Given the description of an element on the screen output the (x, y) to click on. 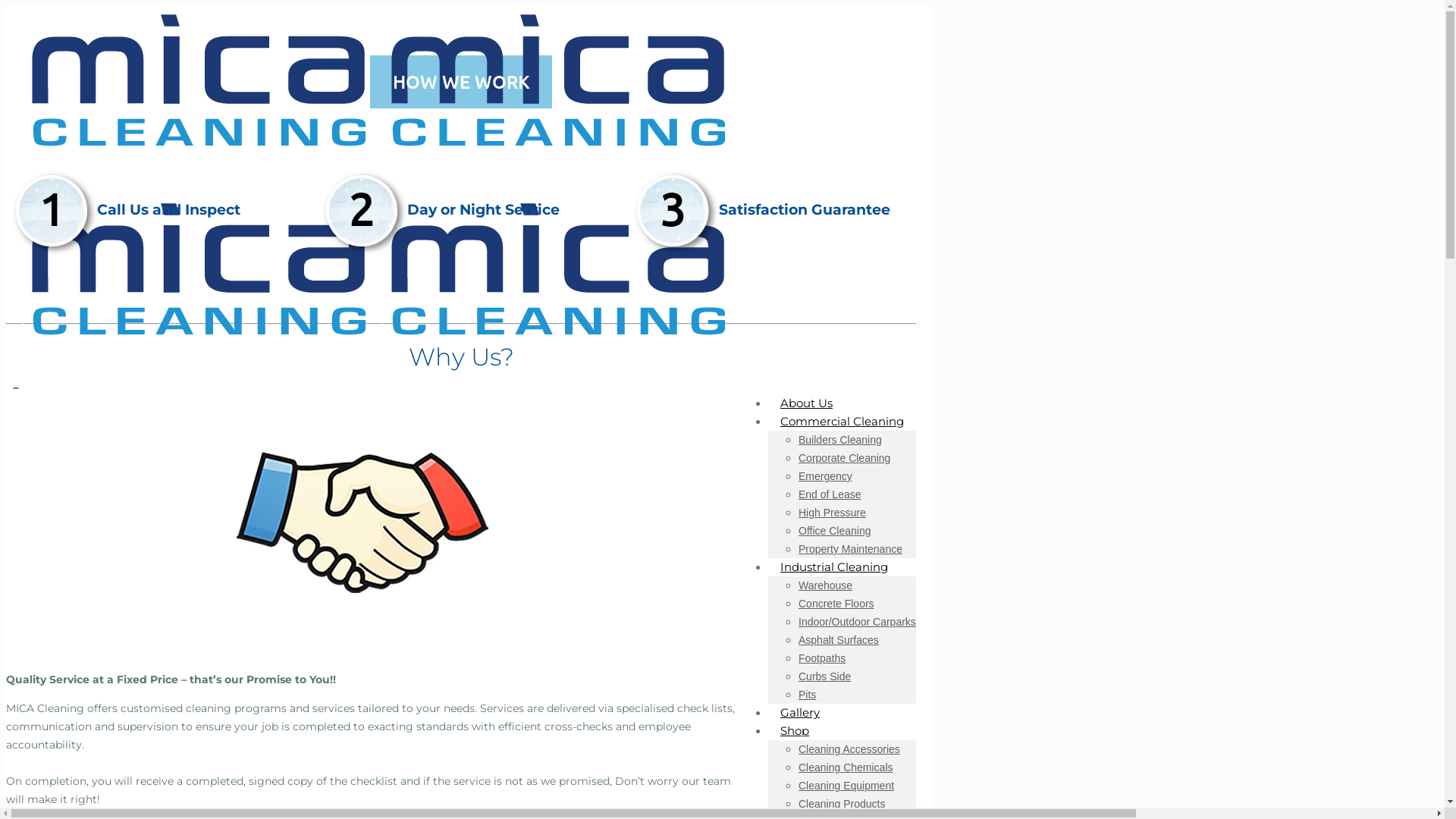
Property Maintenance Element type: text (850, 548)
Pits Element type: text (806, 694)
Cleaning Products Element type: text (841, 803)
Office Cleaning Element type: text (834, 530)
Corporate Cleaning Element type: text (844, 457)
Curbs Side Element type: text (824, 676)
Mica Cleaning Element type: hover (365, 256)
Commercial Cleaning Element type: text (842, 420)
Emergency Element type: text (825, 476)
High Pressure Element type: text (832, 512)
Gallery Element type: text (799, 712)
Indoor/Outdoor Carparks Element type: text (857, 621)
Asphalt Surfaces Element type: text (838, 639)
Cleaning Equipment Element type: text (846, 785)
0
$0.00 Element type: text (461, 414)
Cleaning Chemicals Element type: text (845, 767)
Cleaning Accessories Element type: text (849, 749)
About Us Element type: text (806, 402)
Industrial Cleaning Element type: text (834, 566)
Footpaths Element type: text (821, 658)
Builders Cleaning Element type: text (839, 439)
End of Lease Element type: text (829, 494)
Concrete Floors Element type: text (836, 603)
Shop Element type: text (794, 730)
Warehouse Element type: text (825, 585)
